Given the description of an element on the screen output the (x, y) to click on. 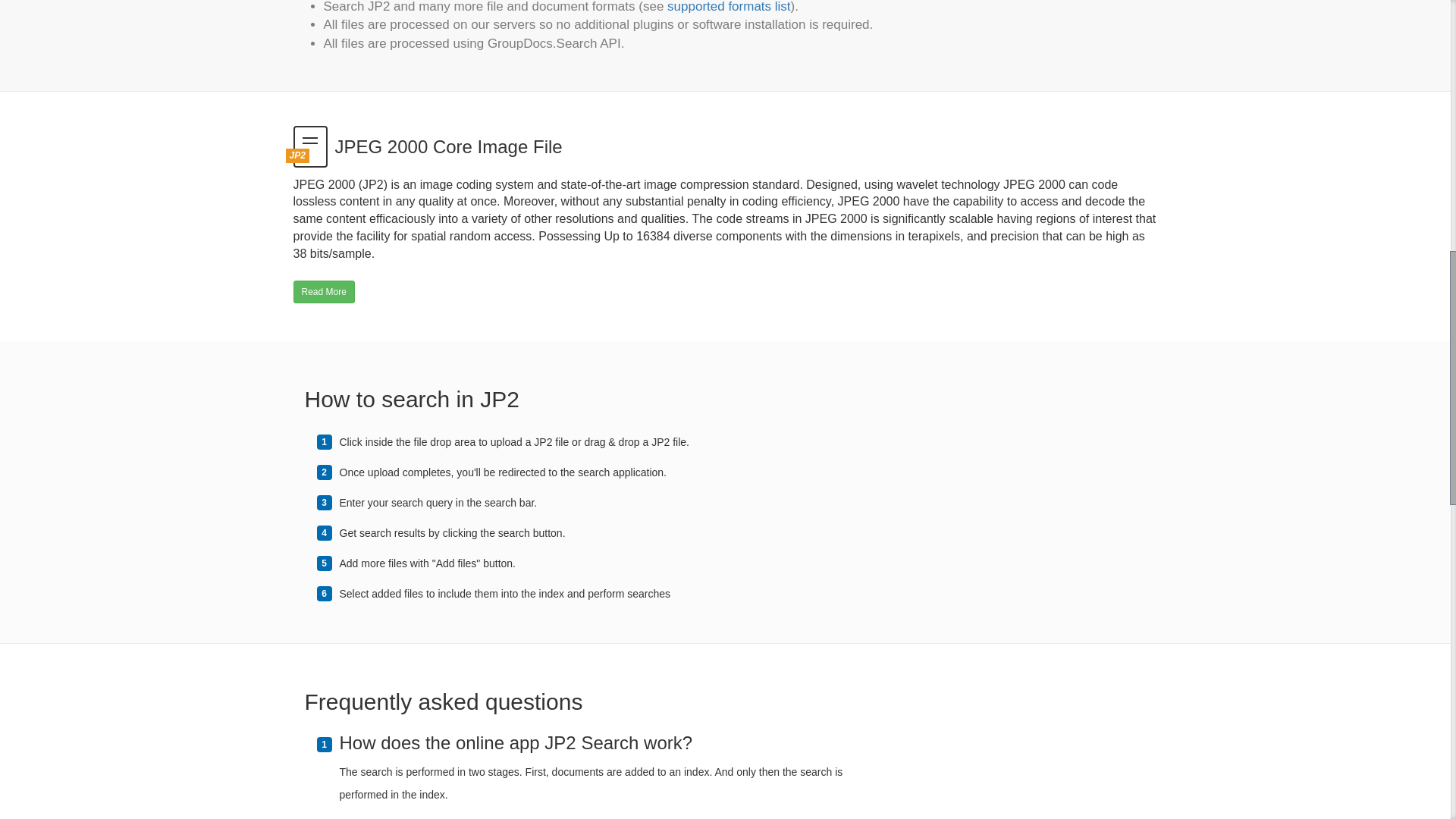
Read More (322, 291)
supported formats list (728, 6)
